Given the description of an element on the screen output the (x, y) to click on. 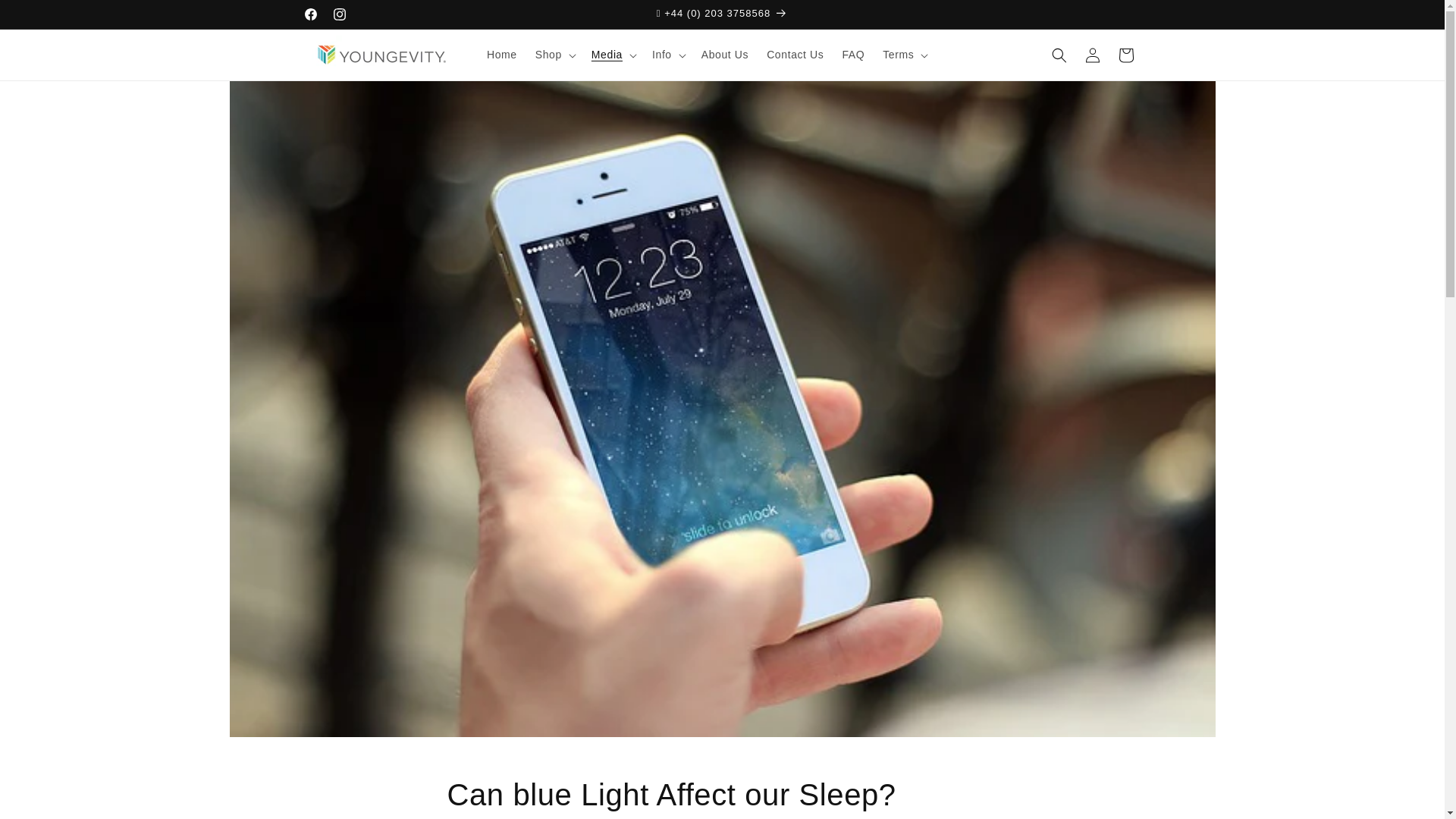
Instagram (338, 14)
Facebook (309, 14)
